Given the description of an element on the screen output the (x, y) to click on. 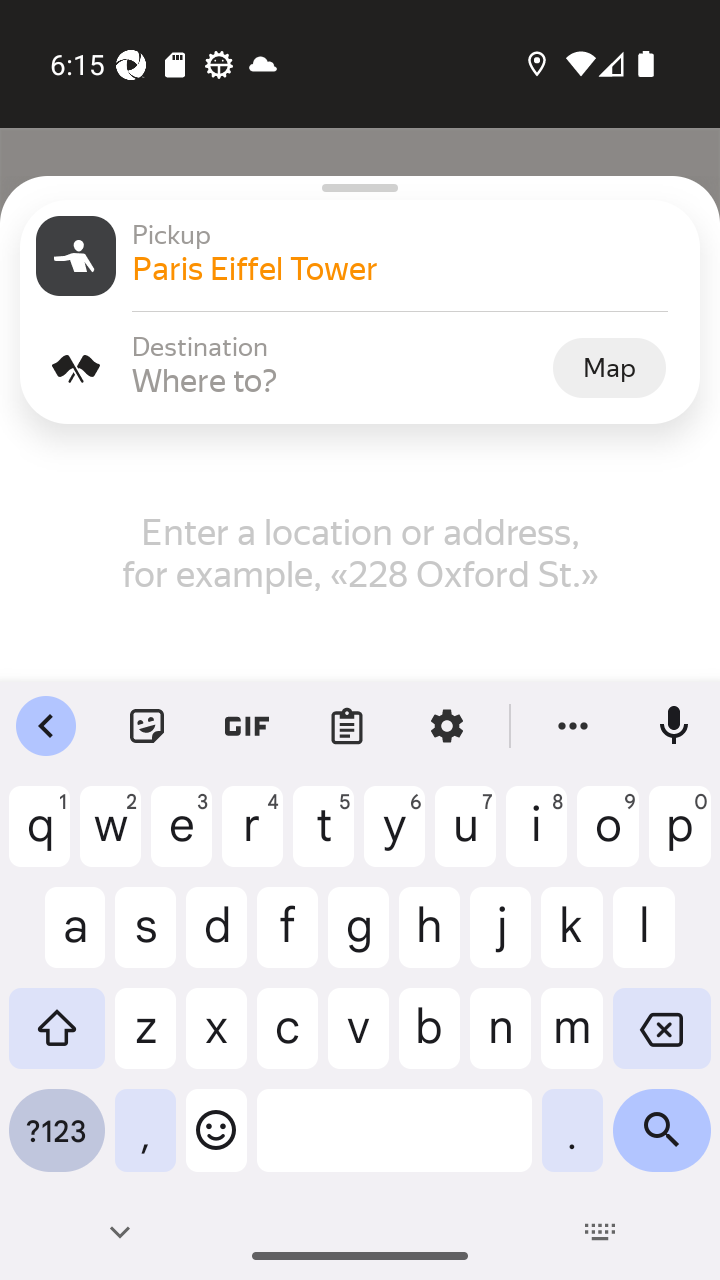
Pickup Pickup Paris Eiffel Tower (359, 255)
Paris Eiffel Tower (407, 268)
Destination Destination Where to? Map (359, 367)
Map (609, 367)
Where to? (340, 380)
